Given the description of an element on the screen output the (x, y) to click on. 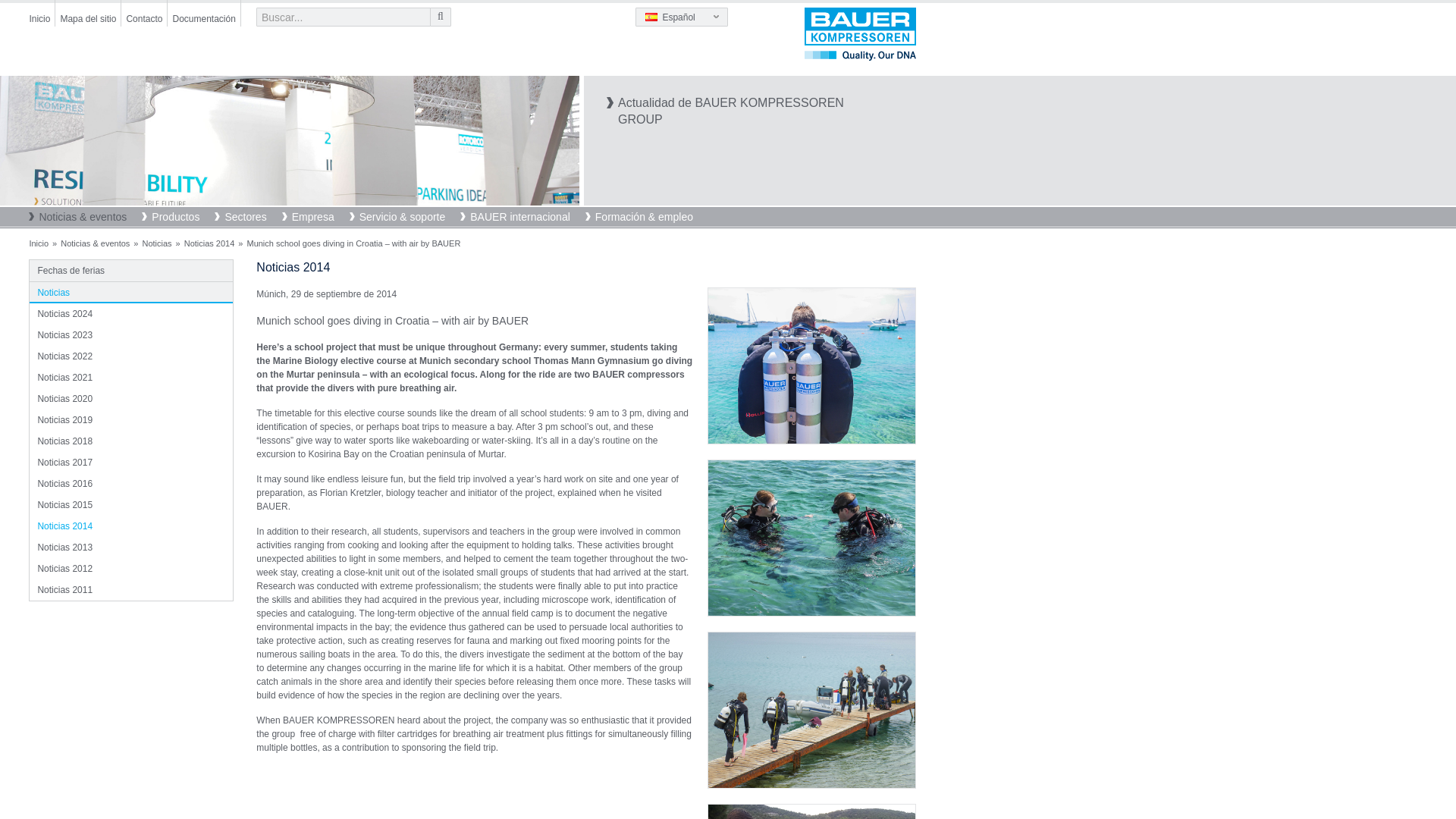
Productos (177, 217)
BAUER KOMPRESSOREN GROUP (860, 33)
Noticias 2014 (289, 140)
Contacto (143, 12)
Mapa del sitio (87, 12)
